Given the description of an element on the screen output the (x, y) to click on. 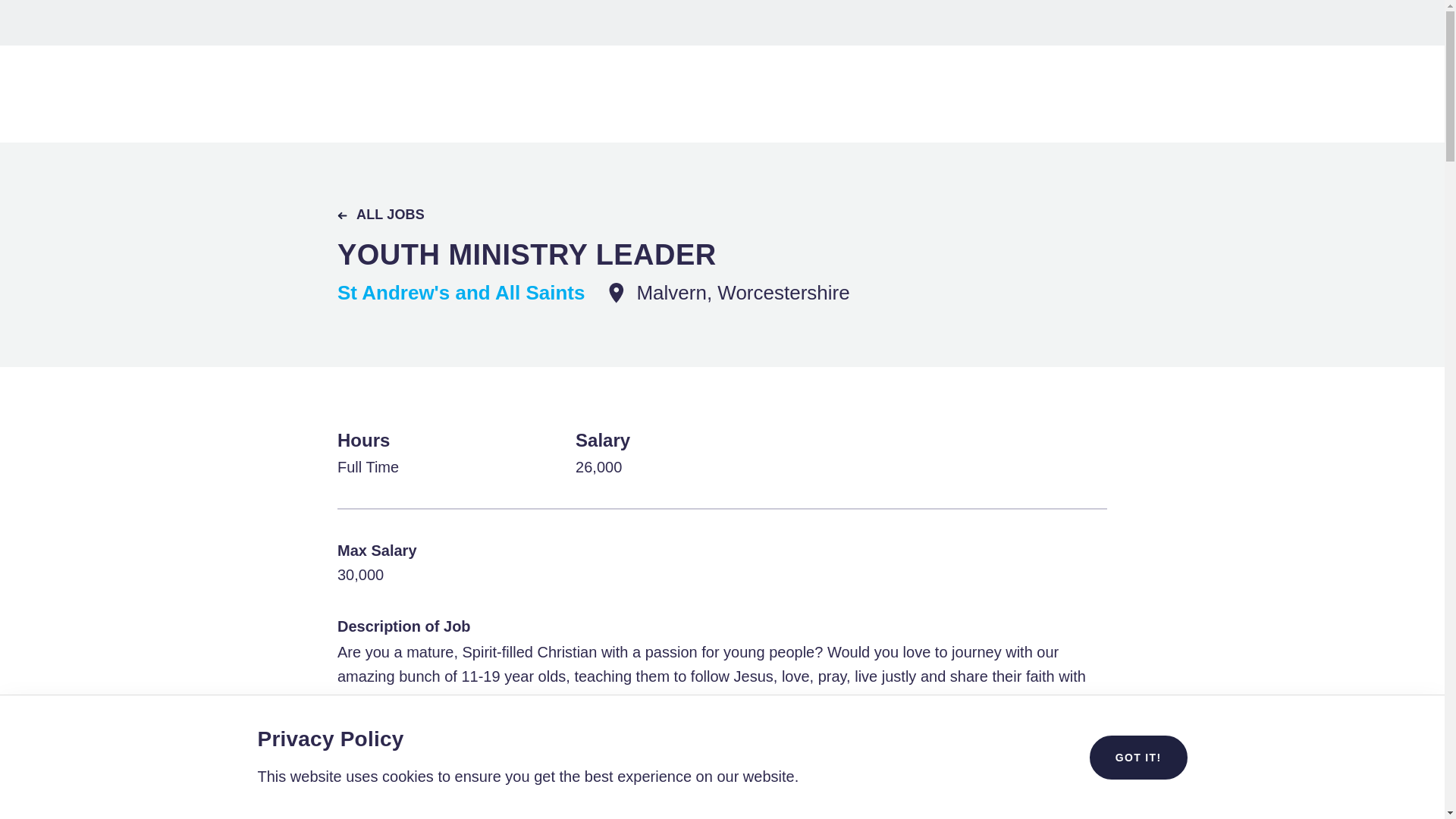
website (421, 797)
ALL JOBS (381, 214)
